Given the description of an element on the screen output the (x, y) to click on. 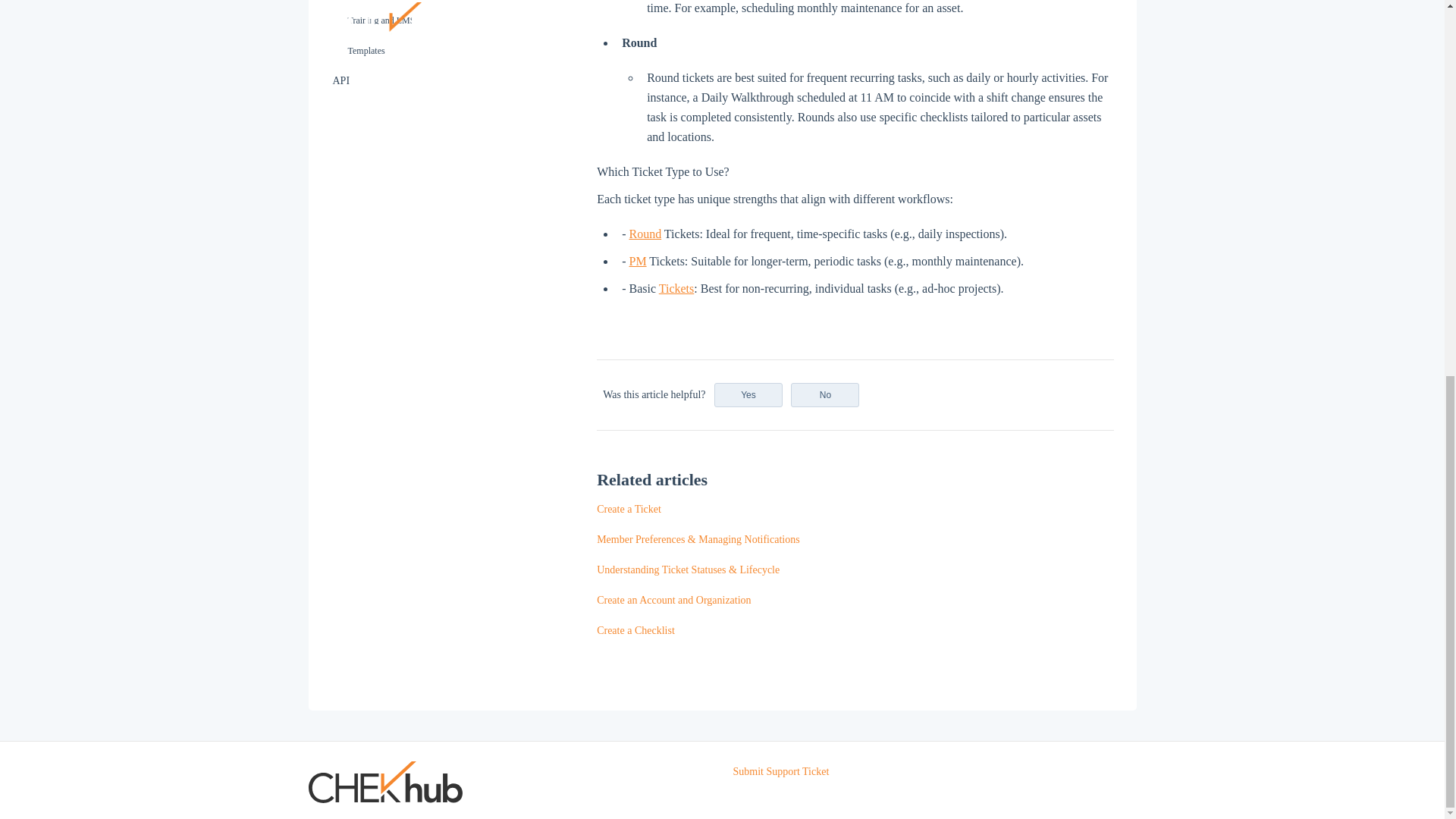
Templates (414, 51)
Round (644, 233)
API (414, 81)
Training and LMS (414, 20)
PM (637, 260)
Calendar (414, 2)
